Given the description of an element on the screen output the (x, y) to click on. 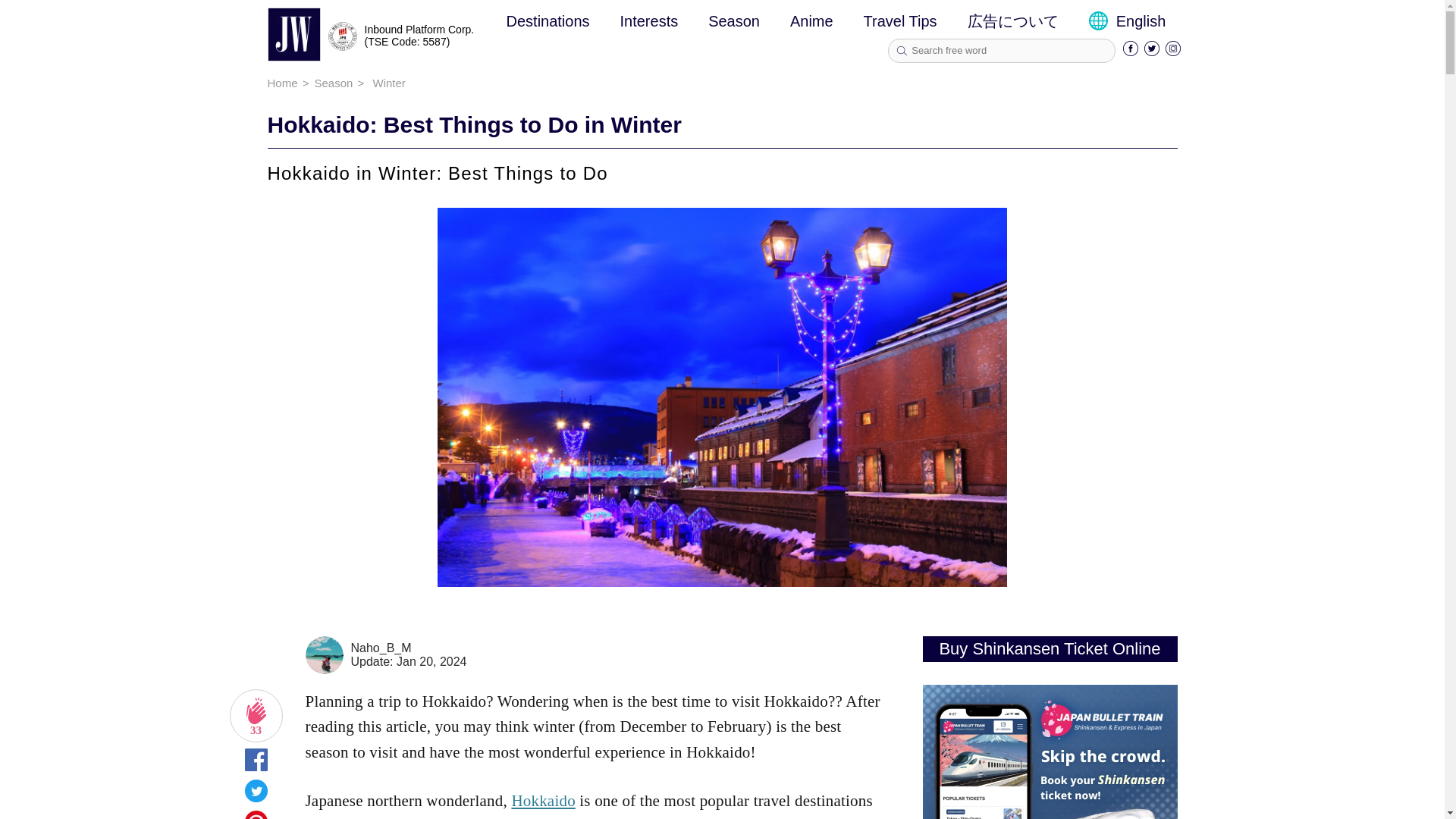
Twitter (1151, 51)
Destinations (547, 20)
Home (281, 82)
Interests (649, 20)
Facebook (1130, 51)
  English (1127, 20)
Instagram (1173, 51)
Share to Twitter (255, 796)
Share to Facebook (255, 765)
Season (733, 20)
